Given the description of an element on the screen output the (x, y) to click on. 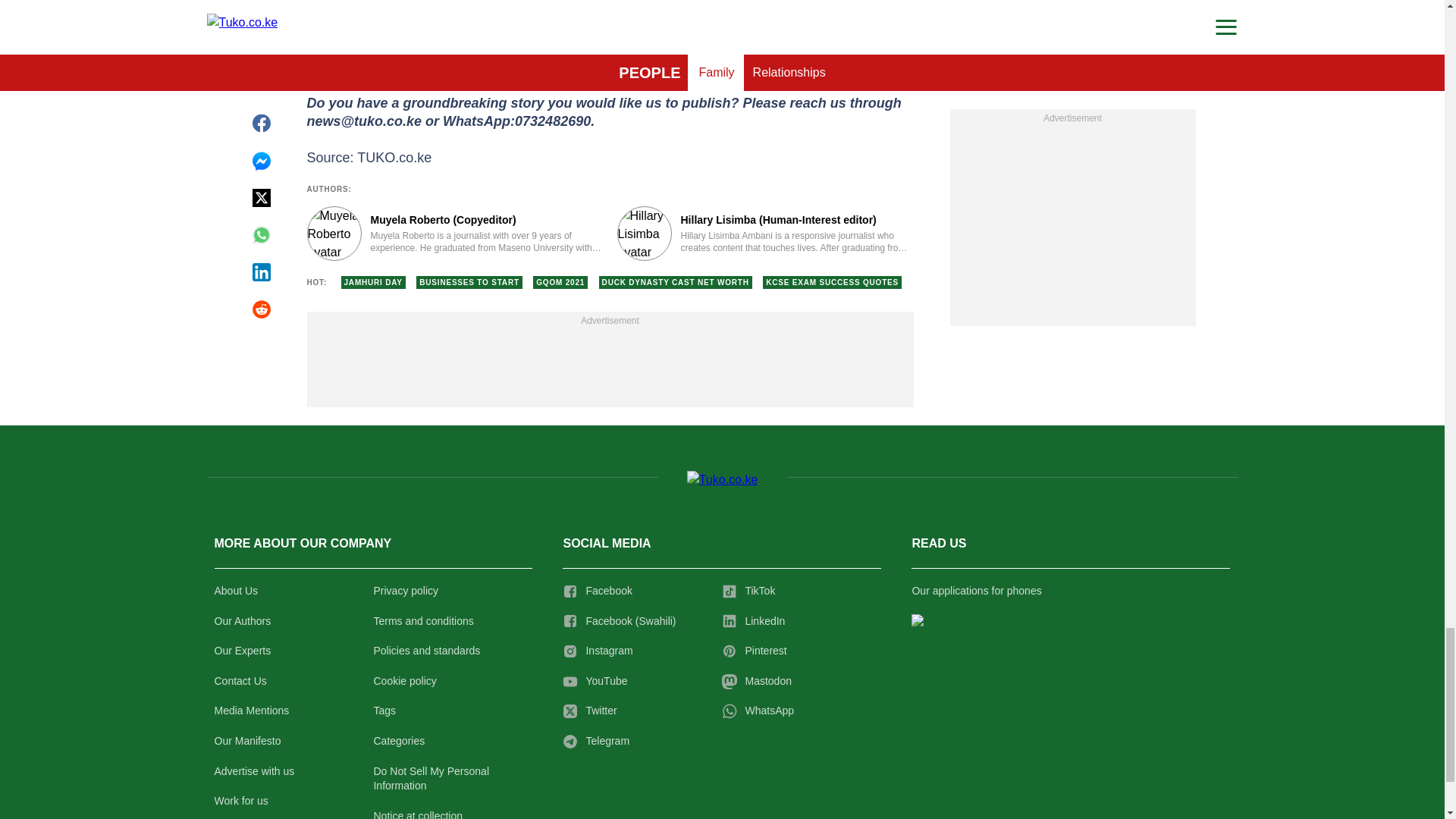
Author page (453, 233)
Author page (765, 233)
